Given the description of an element on the screen output the (x, y) to click on. 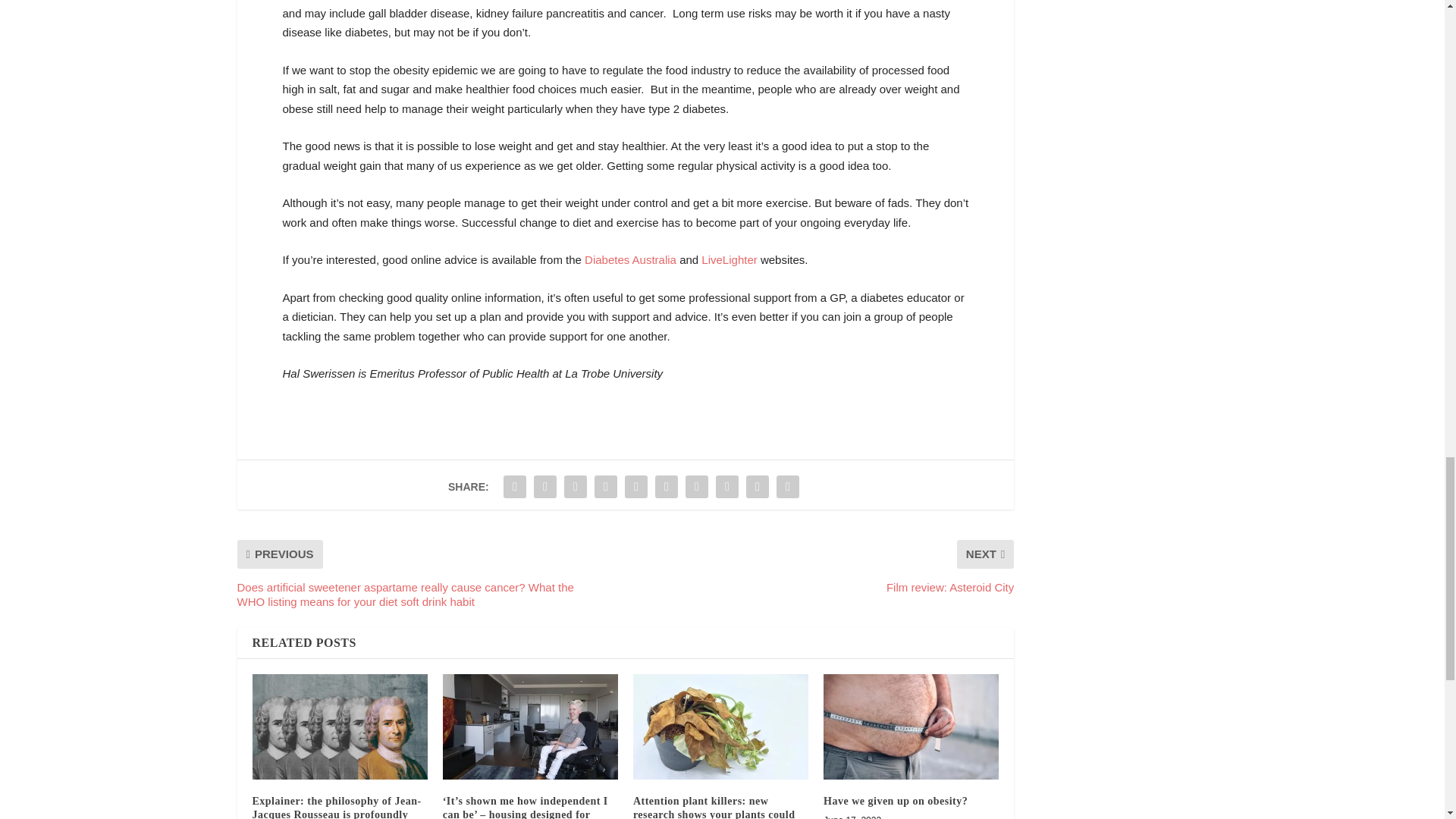
Share "Weight Loss and Diabetes" via Buffer (696, 486)
Share "Weight Loss and Diabetes" via Twitter (544, 486)
Share "Weight Loss and Diabetes" via LinkedIn (665, 486)
Share "Weight Loss and Diabetes" via Tumblr (606, 486)
Diabetes Australia (631, 259)
Share "Weight Loss and Diabetes" via Stumbleupon (726, 486)
Share "Weight Loss and Diabetes" via Pinterest (635, 486)
Share "Weight Loss and Diabetes" via Email (757, 486)
Share "Weight Loss and Diabetes" via Facebook (514, 486)
Have we given up on obesity? (896, 800)
LiveLighter (729, 259)
Share "Weight Loss and Diabetes" via Print (788, 486)
